Given the description of an element on the screen output the (x, y) to click on. 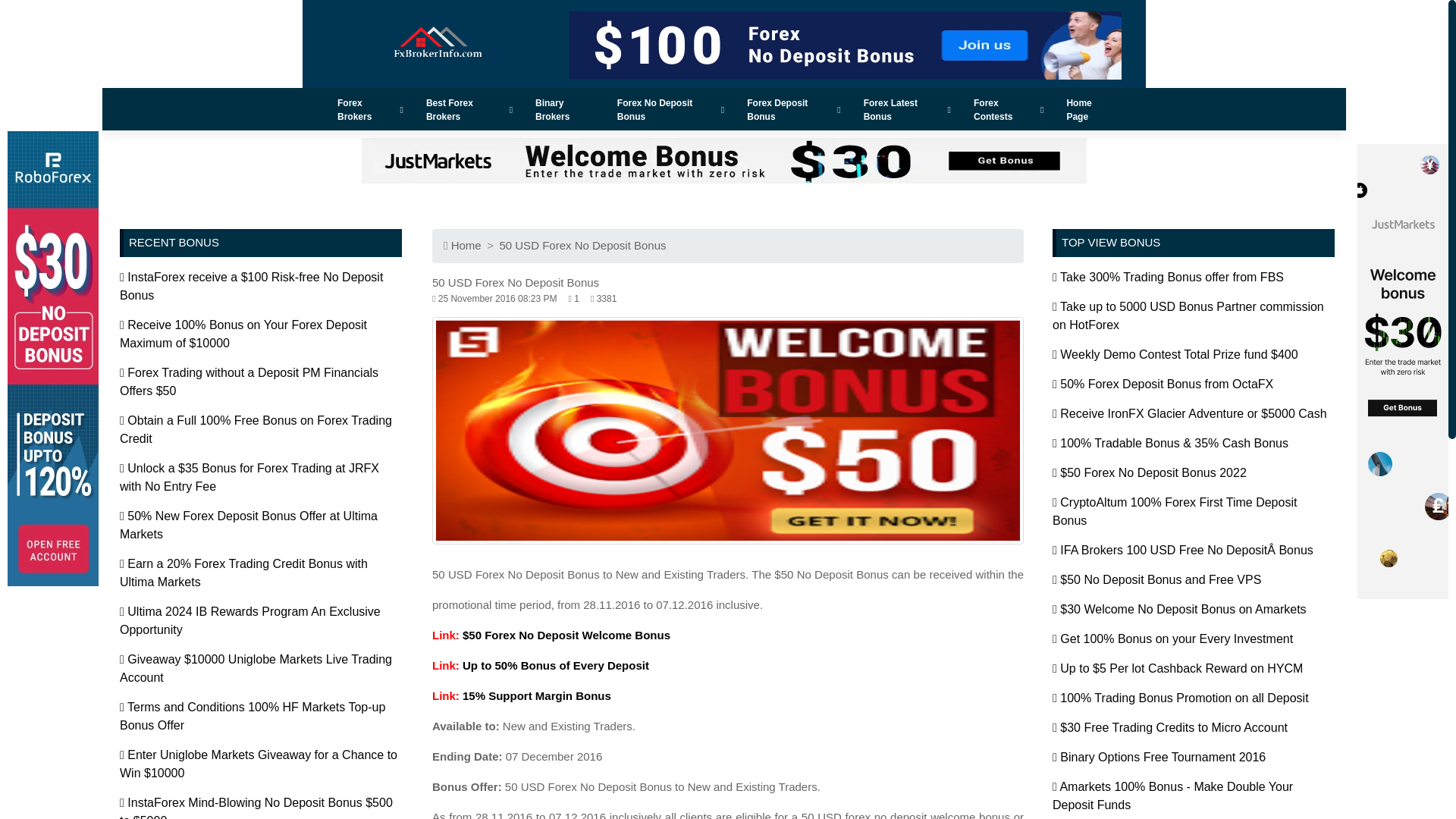
Forex Brokers (370, 109)
Binary Brokers (564, 109)
Forex Latest Bonus (906, 109)
Best Forex Brokers (469, 109)
Forex No Deposit Bonus (670, 109)
Forex Deposit Bonus (793, 109)
